Given the description of an element on the screen output the (x, y) to click on. 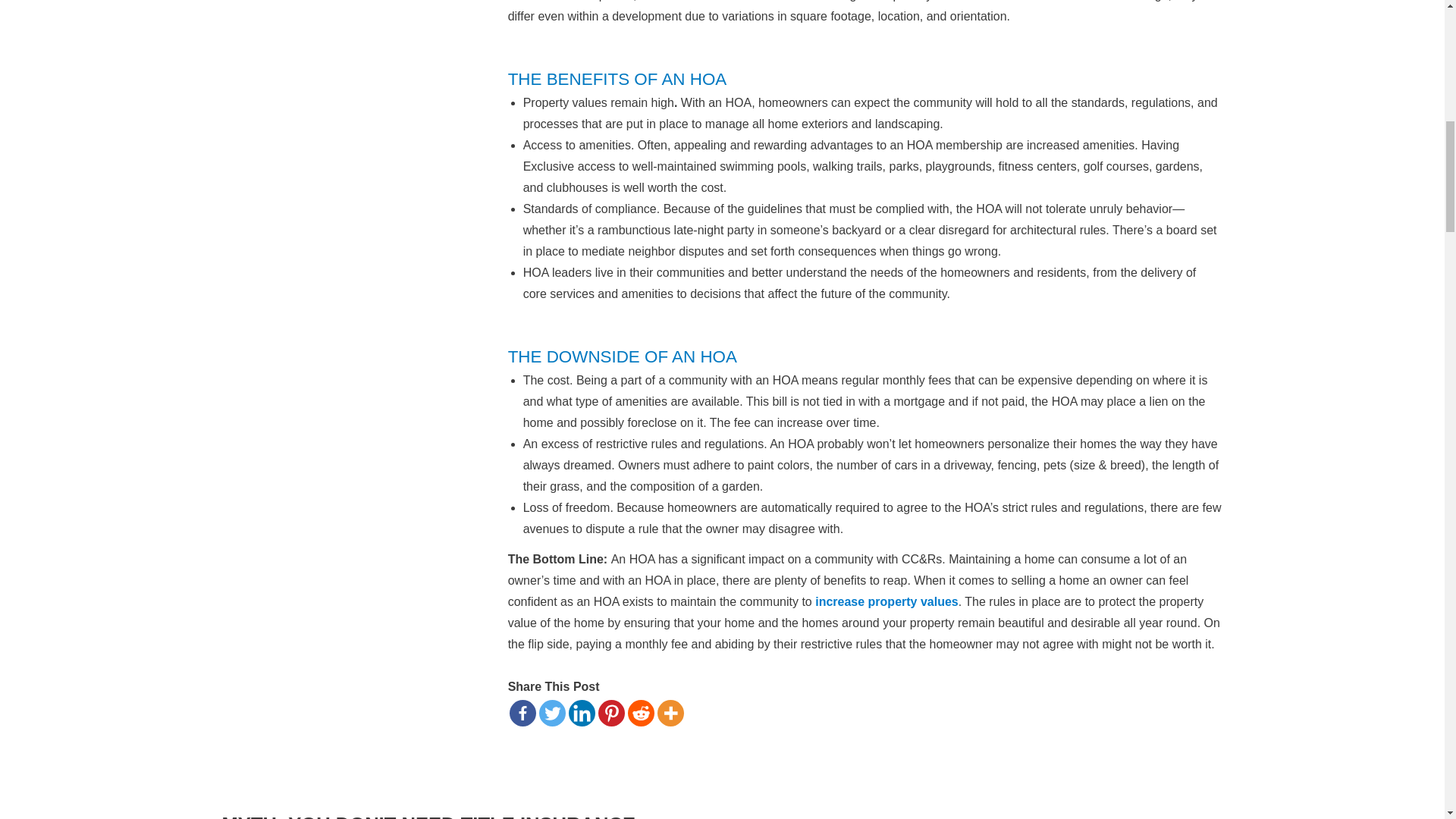
Twitter (552, 713)
Pinterest (611, 713)
More (671, 713)
Reddit (640, 713)
Linkedin (582, 713)
Facebook (522, 713)
